Given the description of an element on the screen output the (x, y) to click on. 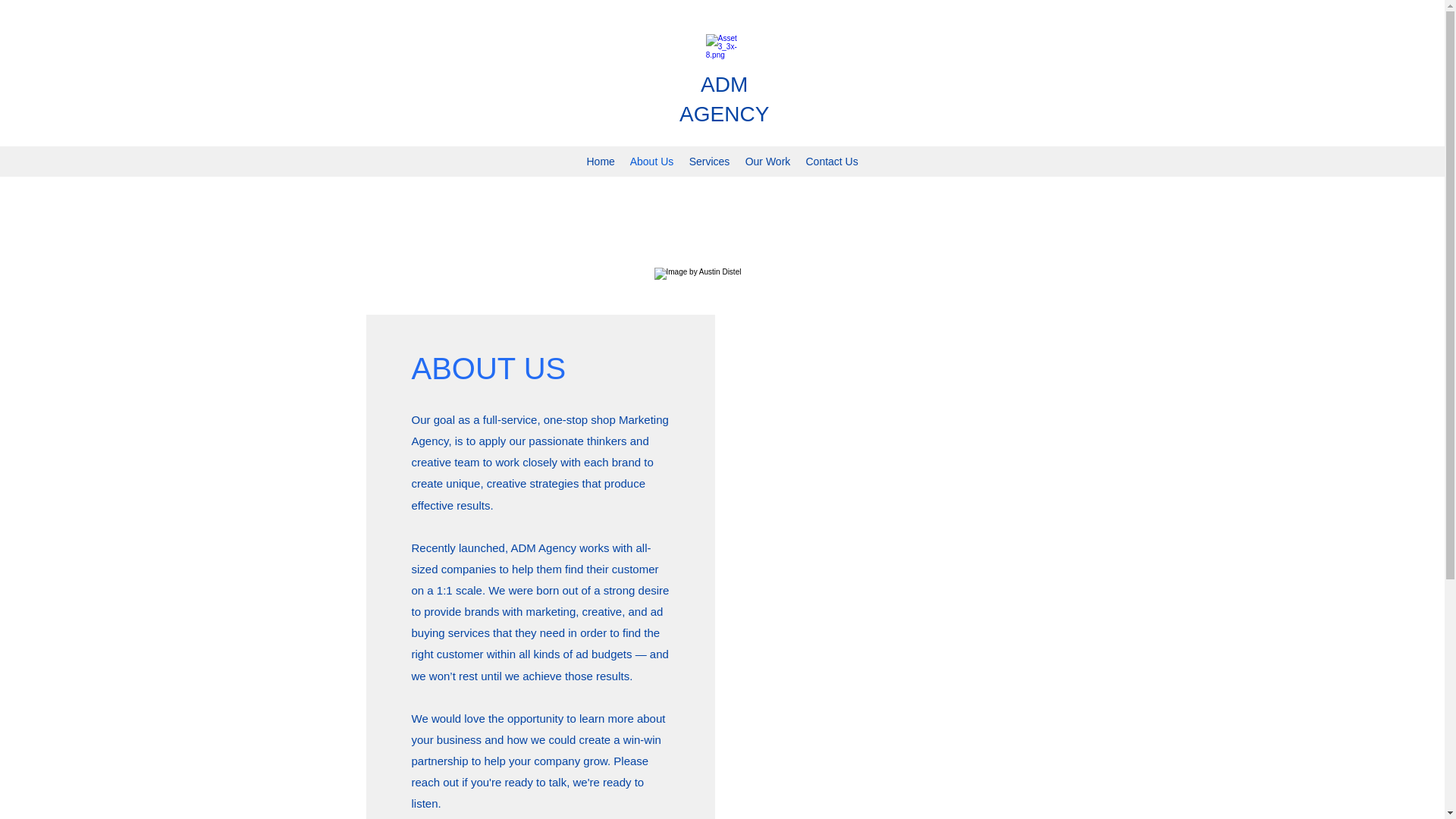
Contact Us (830, 160)
ADM AGENCY (723, 99)
Services (708, 160)
Our Work (766, 160)
Home (599, 160)
About Us (651, 160)
